Given the description of an element on the screen output the (x, y) to click on. 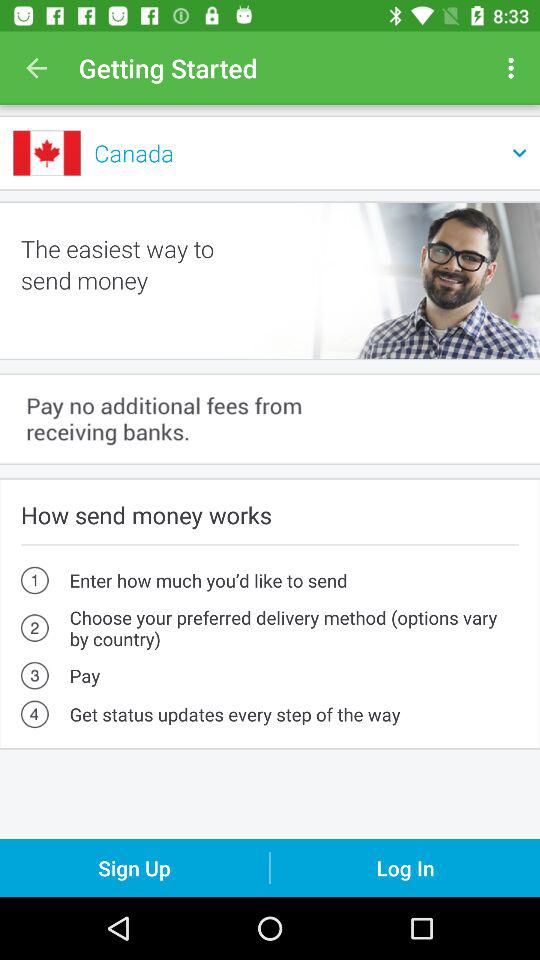
choose the icon below the get status updates item (405, 867)
